Given the description of an element on the screen output the (x, y) to click on. 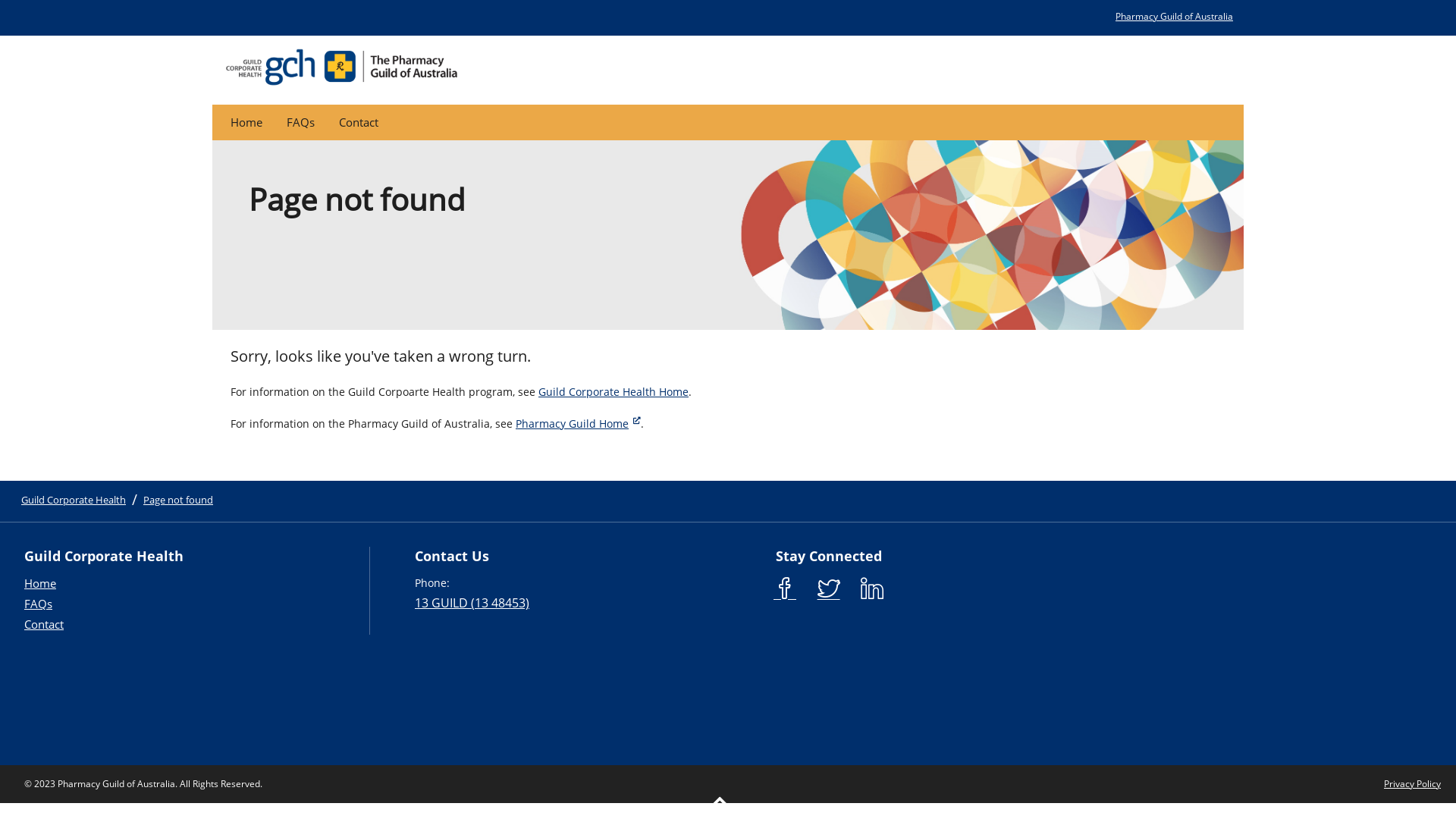
13 GUILD (13 48453) Element type: text (471, 602)
Contact Element type: text (358, 121)
FAQs Element type: text (300, 121)
Guild Corporate Health Home Element type: text (613, 391)
FAQs Element type: text (38, 603)
Pharmacy Guild of Australia Element type: text (1173, 16)
Pharmacy Guild LinkedIn Element type: hover (871, 587)
Home Element type: text (246, 121)
Contact Element type: text (43, 623)
Pharmacy Guild Twitter Element type: hover (828, 587)
Pharmacy Guild Facebook Element type: hover (784, 587)
Home Element type: text (40, 582)
Guild Corporate Health Element type: text (73, 499)
Return to the top of the page Element type: hover (720, 801)
Pharmacy Guild Home Element type: text (577, 423)
Privacy Policy Element type: text (1411, 783)
Page not found Element type: text (178, 499)
